Given the description of an element on the screen output the (x, y) to click on. 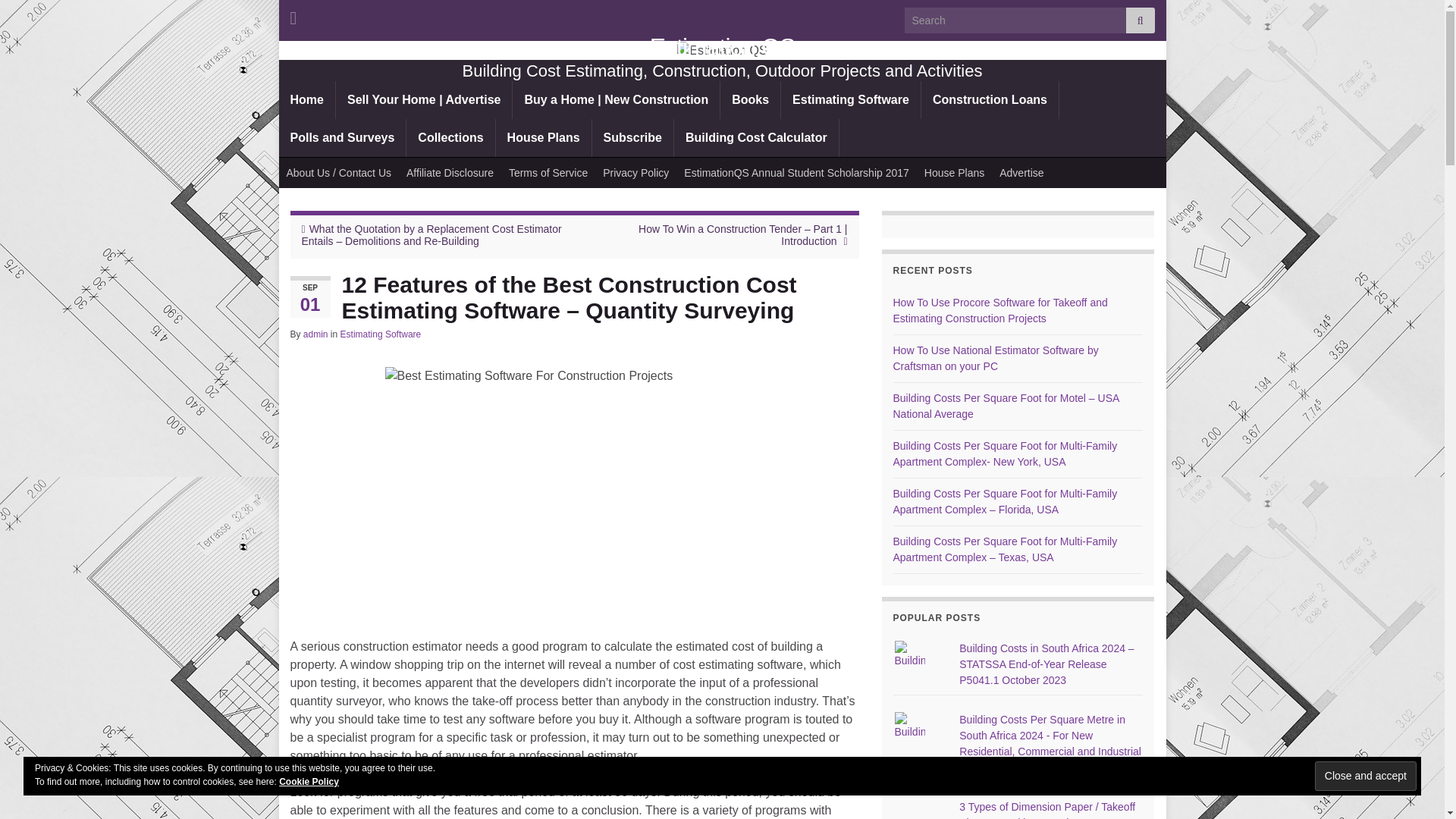
House Plans (543, 137)
Home (306, 99)
Close and accept (1365, 776)
Estimation QS (722, 50)
Construction Loans (989, 99)
Estimation QS (721, 46)
EstimationQS Annual Student Scholarship 2017 (797, 173)
Collections (450, 137)
Estimating Software (850, 99)
